Given the description of an element on the screen output the (x, y) to click on. 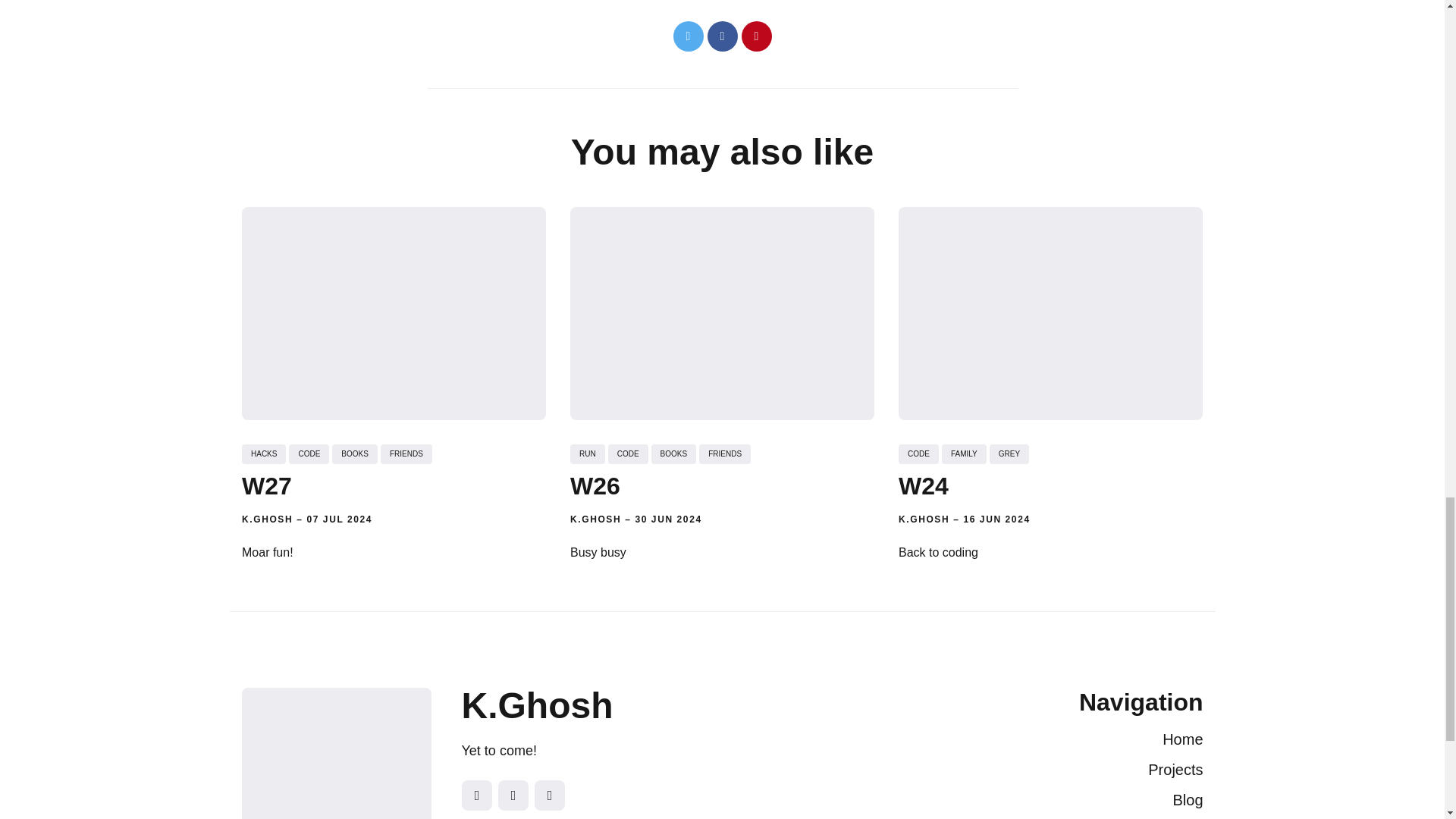
BOOKS (672, 453)
BOOKS (354, 453)
K.GHOSH (595, 519)
Share on Pinterest (756, 36)
W26 (595, 484)
K.GHOSH (266, 519)
RUN (587, 453)
FRIENDS (405, 453)
CODE (308, 453)
HACKS (263, 453)
